Given the description of an element on the screen output the (x, y) to click on. 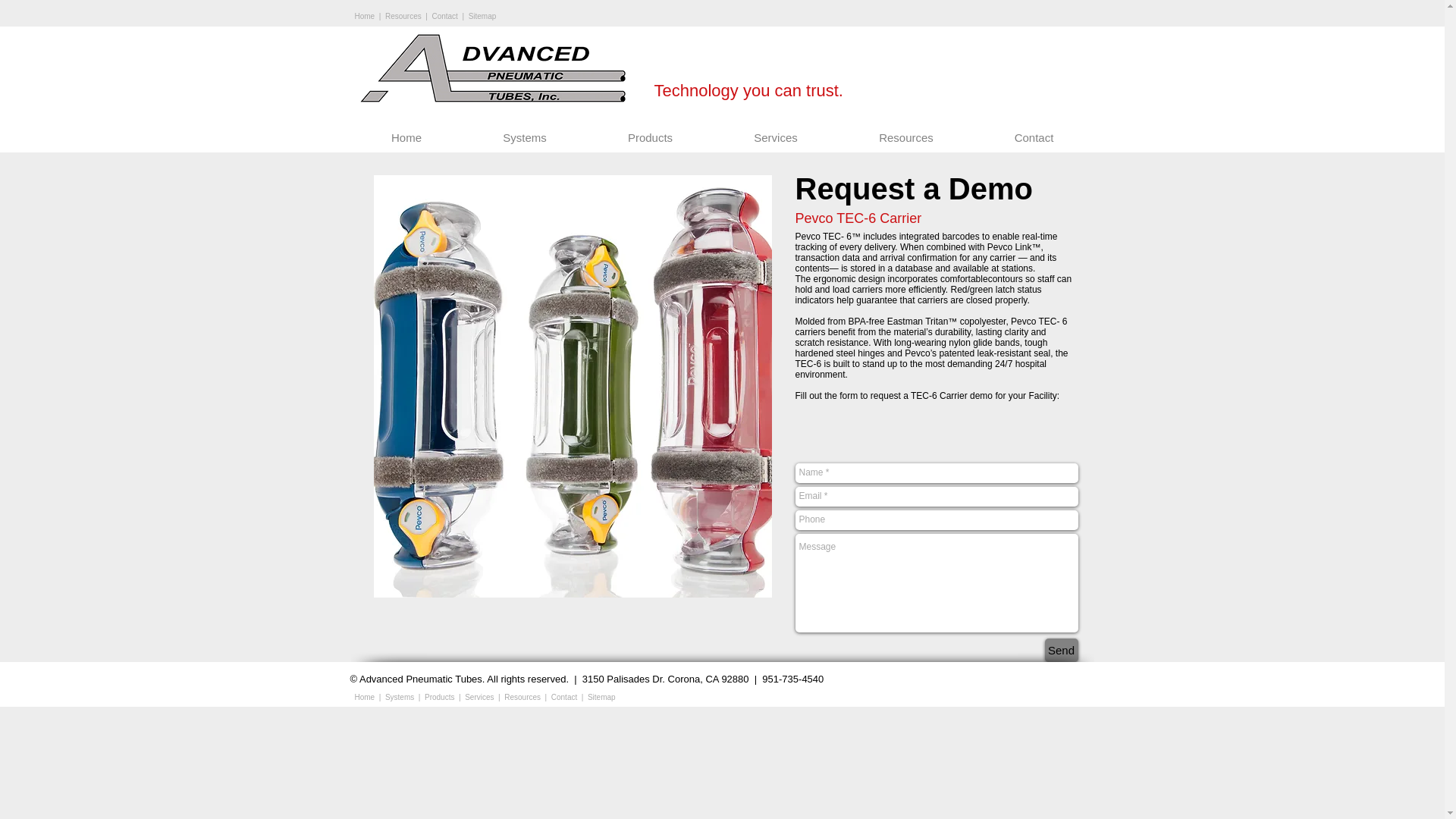
Home (365, 16)
Contact (1033, 142)
Sitemap (601, 696)
Contact (563, 696)
Services (478, 696)
Systems (399, 696)
Home (405, 142)
Resources (403, 16)
Home (365, 696)
Systems (525, 142)
